Given the description of an element on the screen output the (x, y) to click on. 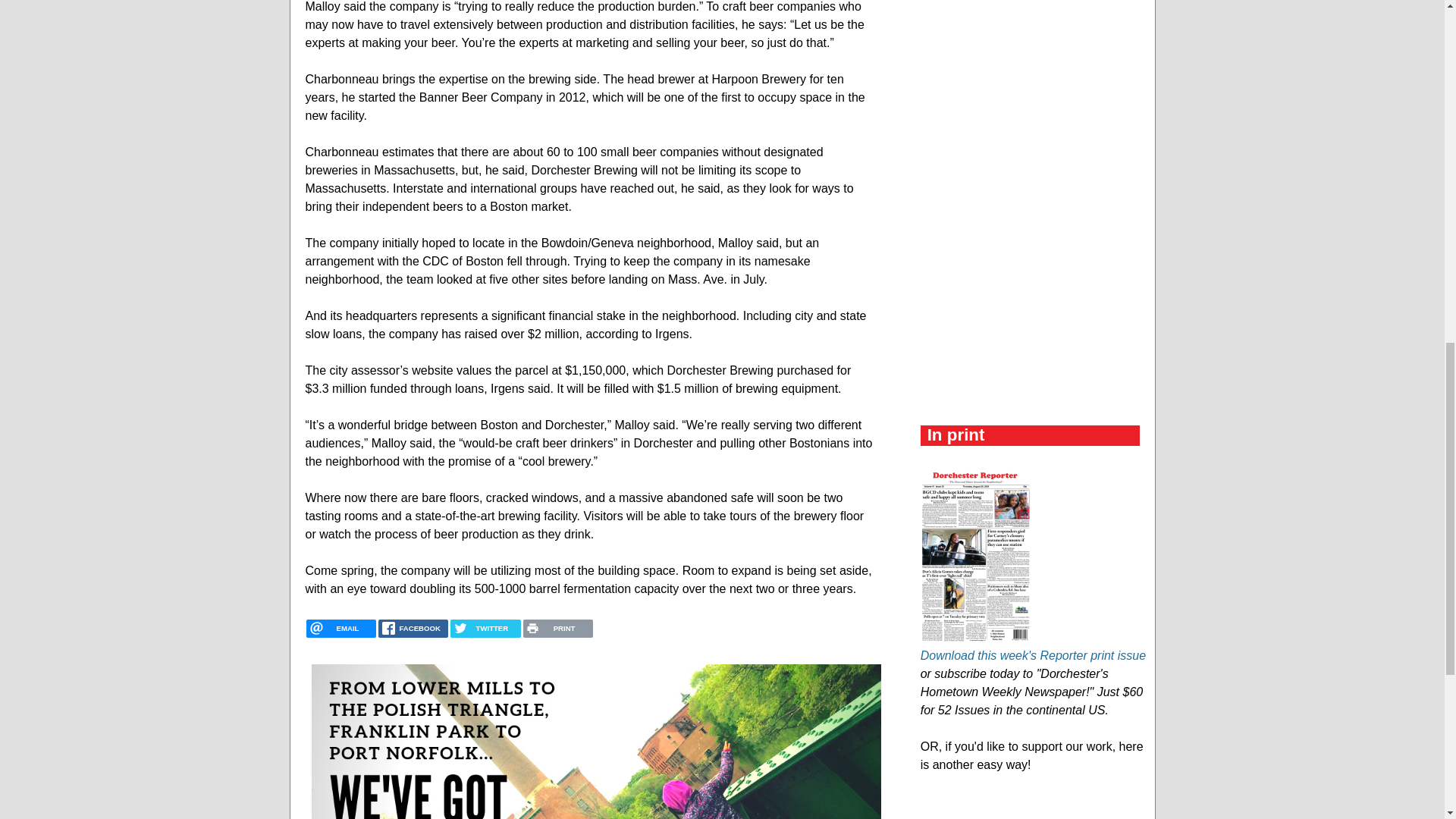
TWITTER (484, 628)
Download this week's Reporter print issue (1032, 655)
EMAIL (340, 628)
PRINT (557, 628)
3rd party ad content (1034, 110)
FACEBOOK (413, 628)
